Given the description of an element on the screen output the (x, y) to click on. 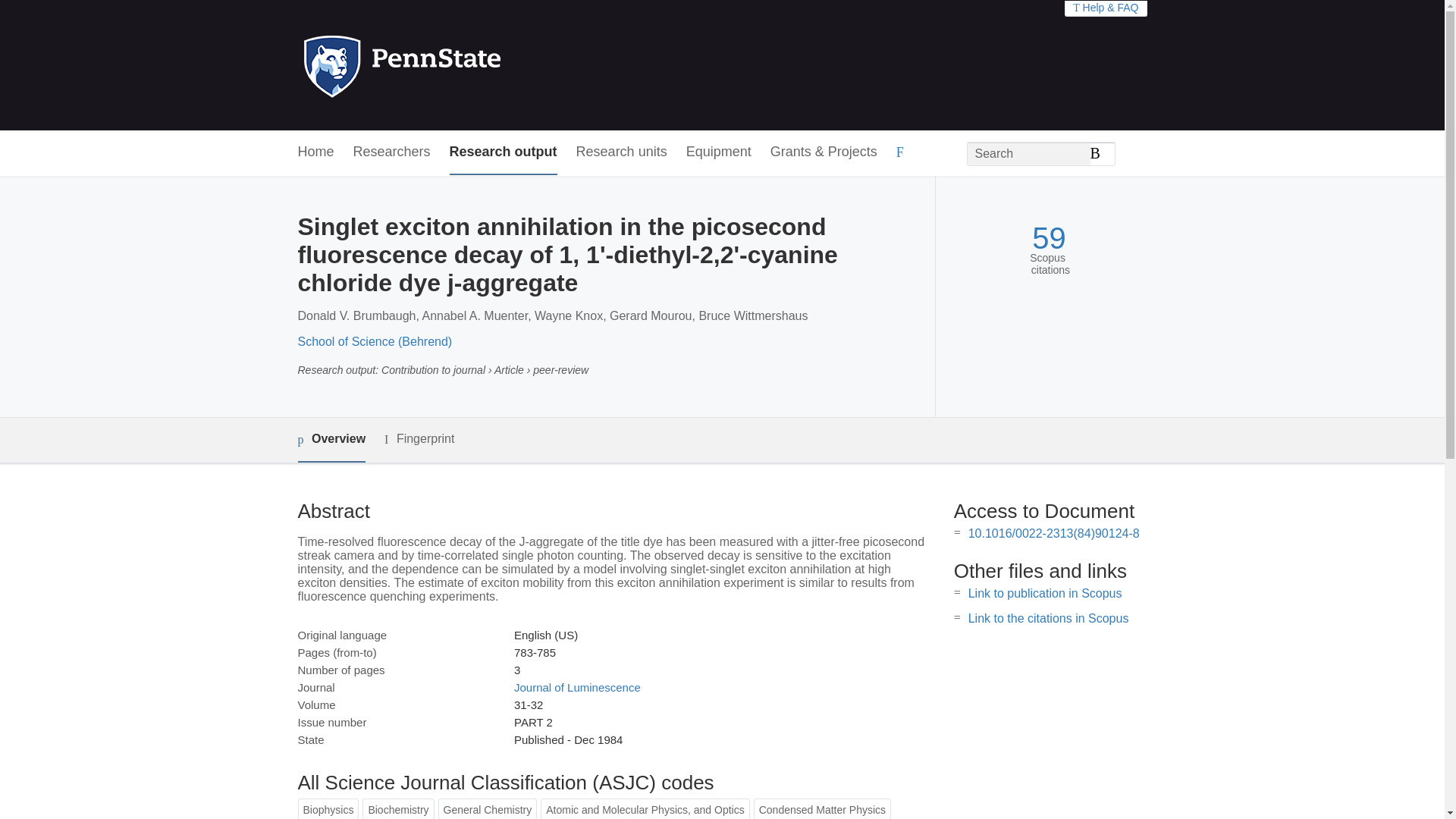
Journal of Luminescence (576, 686)
Link to publication in Scopus (1045, 593)
Research output (503, 152)
59 (1048, 238)
Overview (331, 439)
Fingerprint (419, 439)
Researchers (391, 152)
Equipment (718, 152)
Link to the citations in Scopus (1048, 617)
Penn State Home (467, 65)
Research units (621, 152)
